Given the description of an element on the screen output the (x, y) to click on. 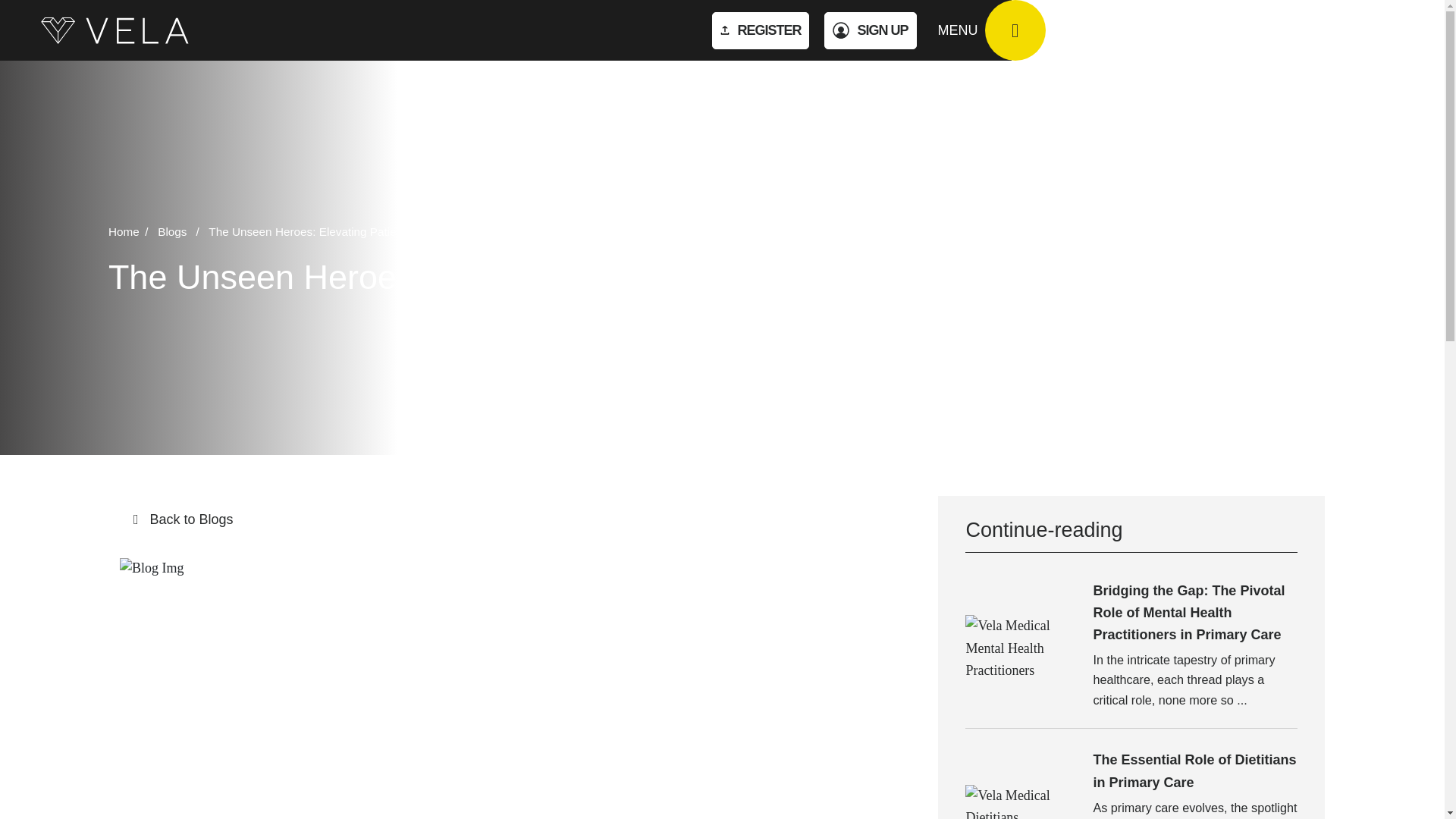
MENU (991, 30)
SIGN UP (869, 30)
Blogs (181, 232)
Back to Blogs (517, 519)
REGISTER (760, 30)
Home (130, 232)
Go to the Homepage (116, 29)
